Given the description of an element on the screen output the (x, y) to click on. 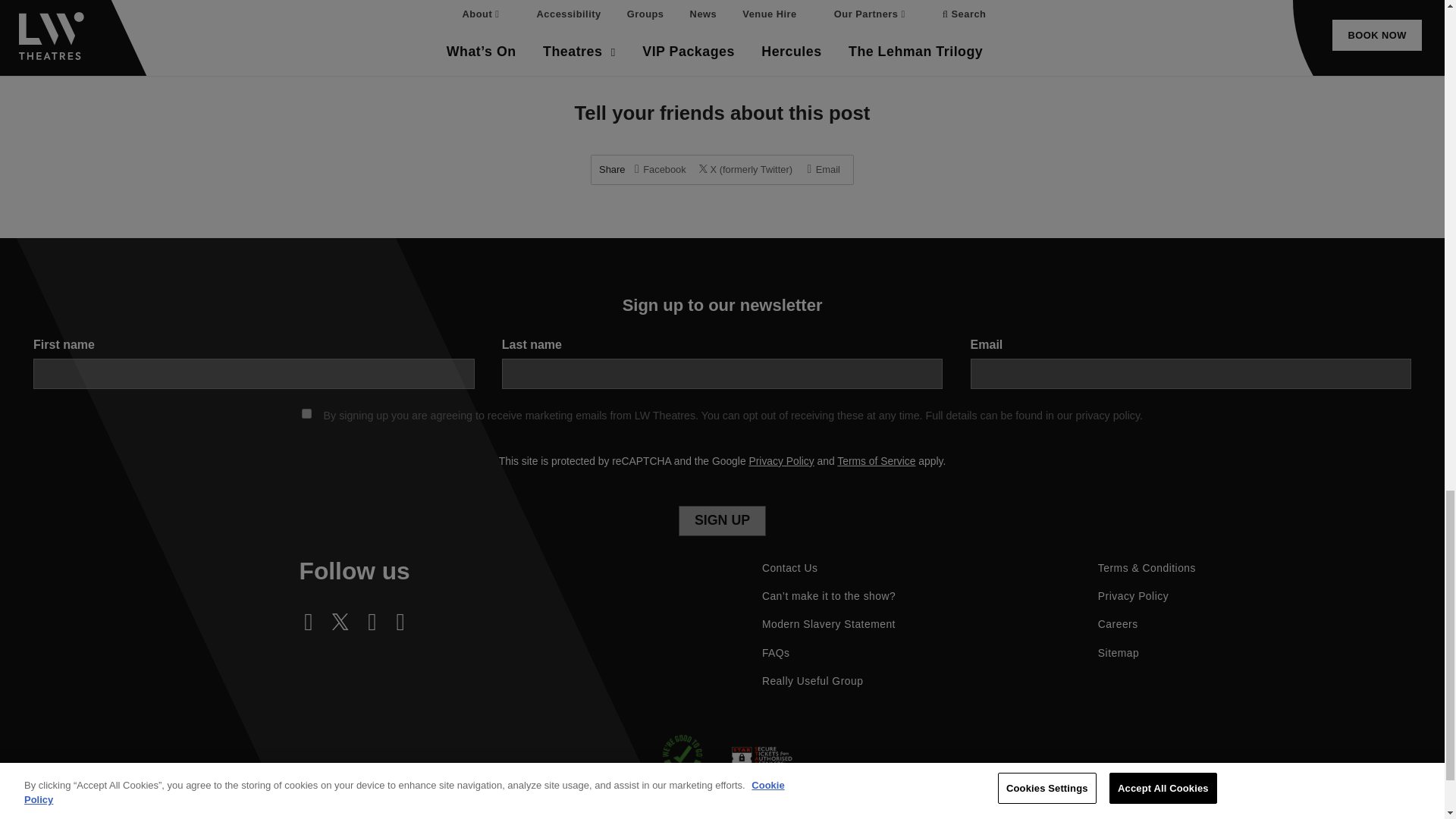
Terms of Service (876, 460)
Sign Up (721, 521)
privacy policy (1107, 415)
Careers (1118, 624)
Contact Us (790, 568)
Email (822, 169)
Privacy Policy (1132, 596)
FAQs (776, 653)
Sitemap (1118, 653)
Facebook (659, 169)
Modern Slavery Statement (829, 624)
Privacy Policy (780, 460)
Sign Up (721, 521)
